Given the description of an element on the screen output the (x, y) to click on. 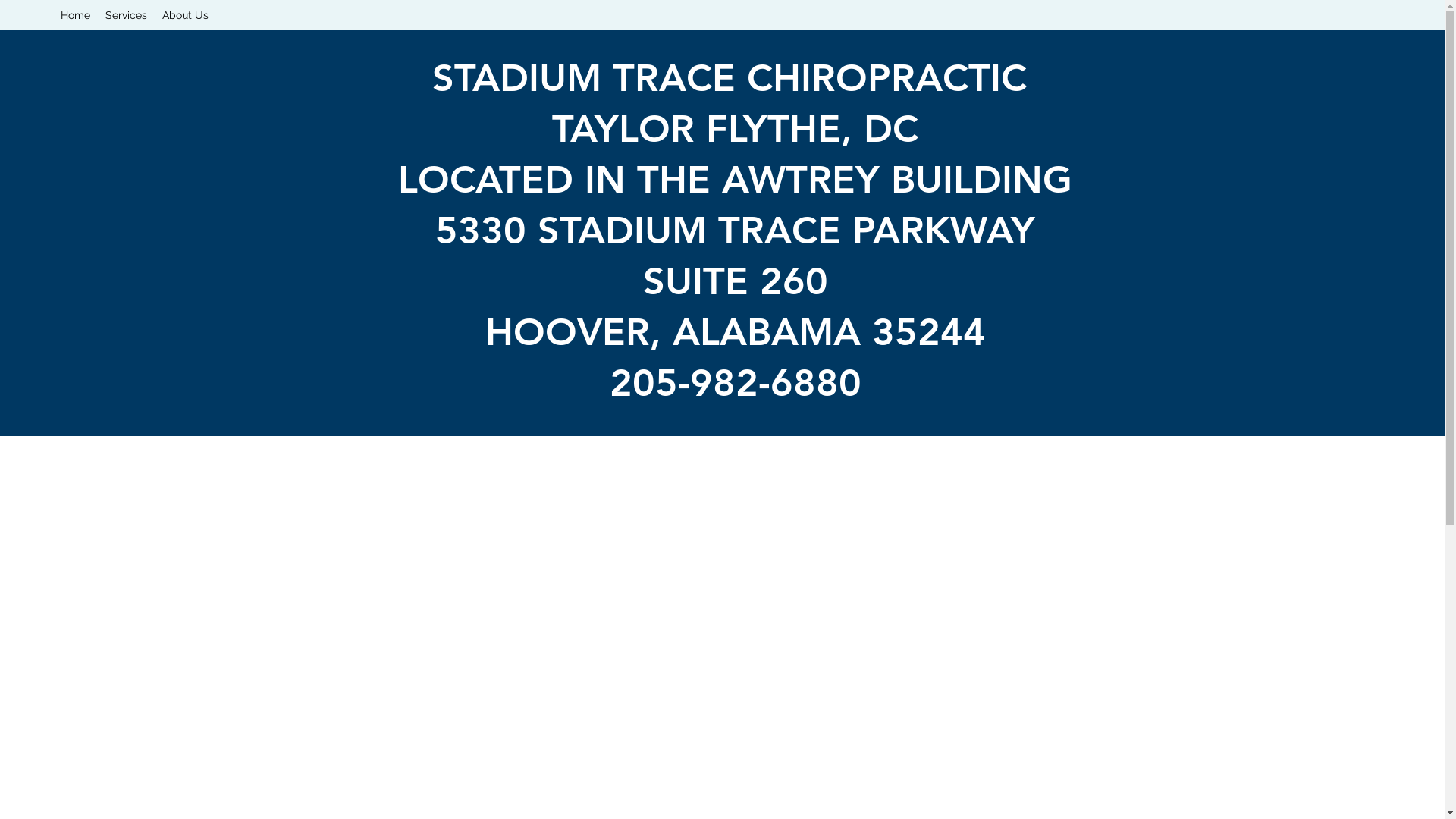
TAYLOR FLYTHE, DC Element type: text (735, 128)
STADIUM TRACE CHIROPRACTIC  Element type: text (735, 77)
Services Element type: text (125, 14)
205-982-6880 Element type: text (735, 382)
Home Element type: text (75, 14)
About Us Element type: text (185, 14)
